Given the description of an element on the screen output the (x, y) to click on. 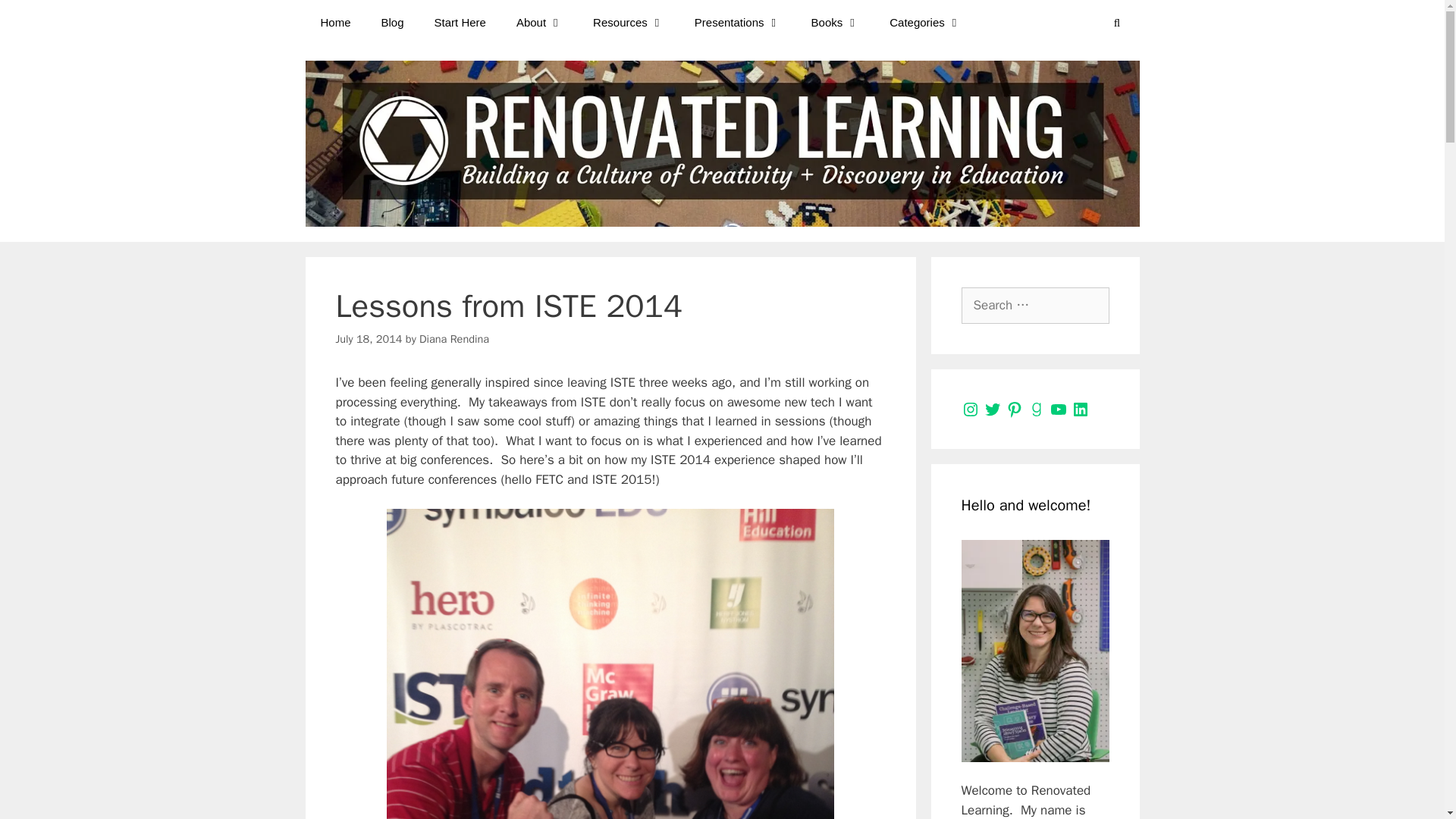
Blog (392, 22)
Resources (628, 22)
Start Here (459, 22)
View all posts by Diana Rendina (454, 338)
Home (334, 22)
About (539, 22)
Presentations (737, 22)
